Given the description of an element on the screen output the (x, y) to click on. 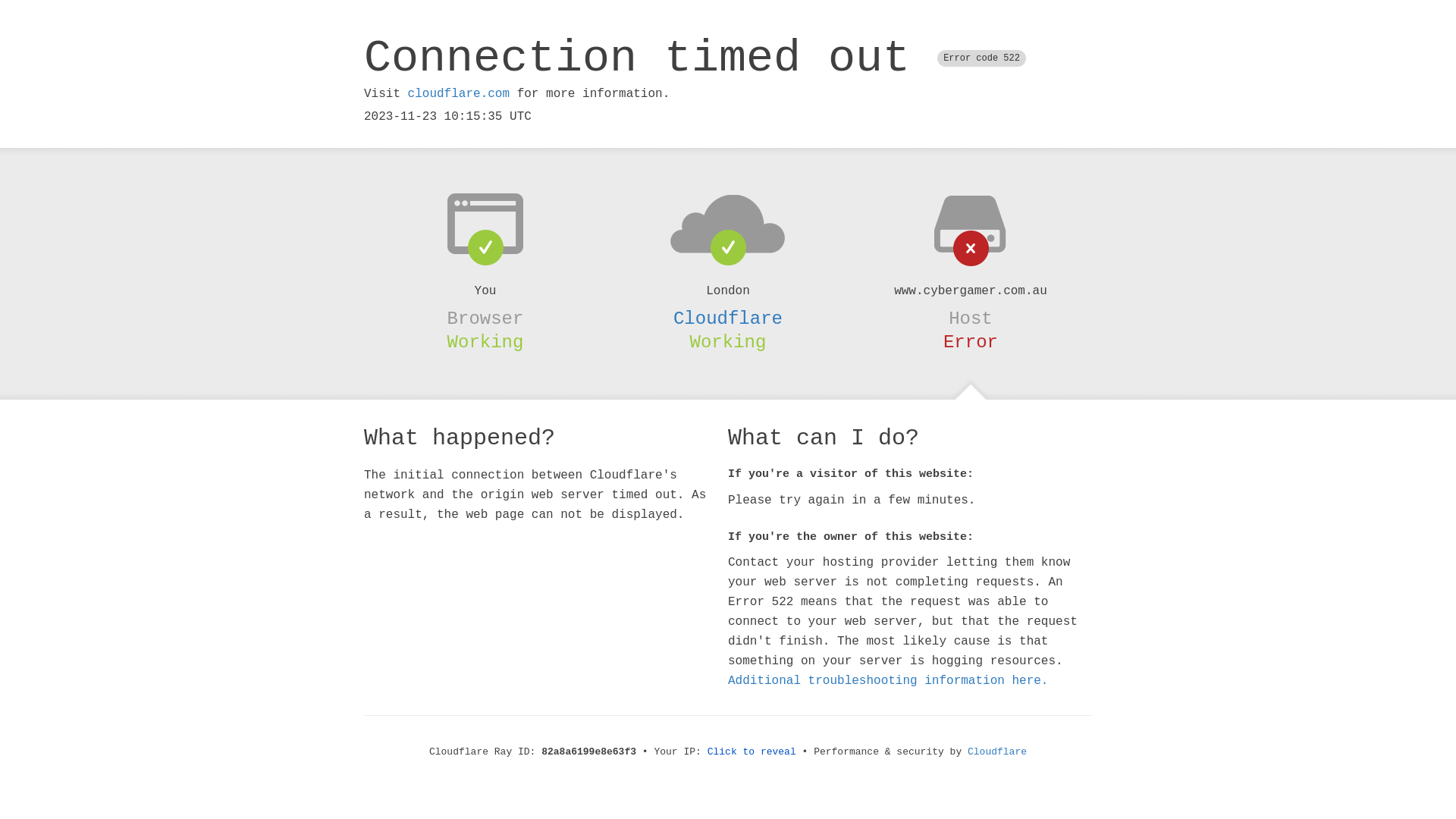
cloudflare.com Element type: text (458, 93)
Click to reveal Element type: text (751, 751)
Cloudflare Element type: text (727, 318)
Additional troubleshooting information here. Element type: text (888, 680)
Cloudflare Element type: text (996, 751)
